Given the description of an element on the screen output the (x, y) to click on. 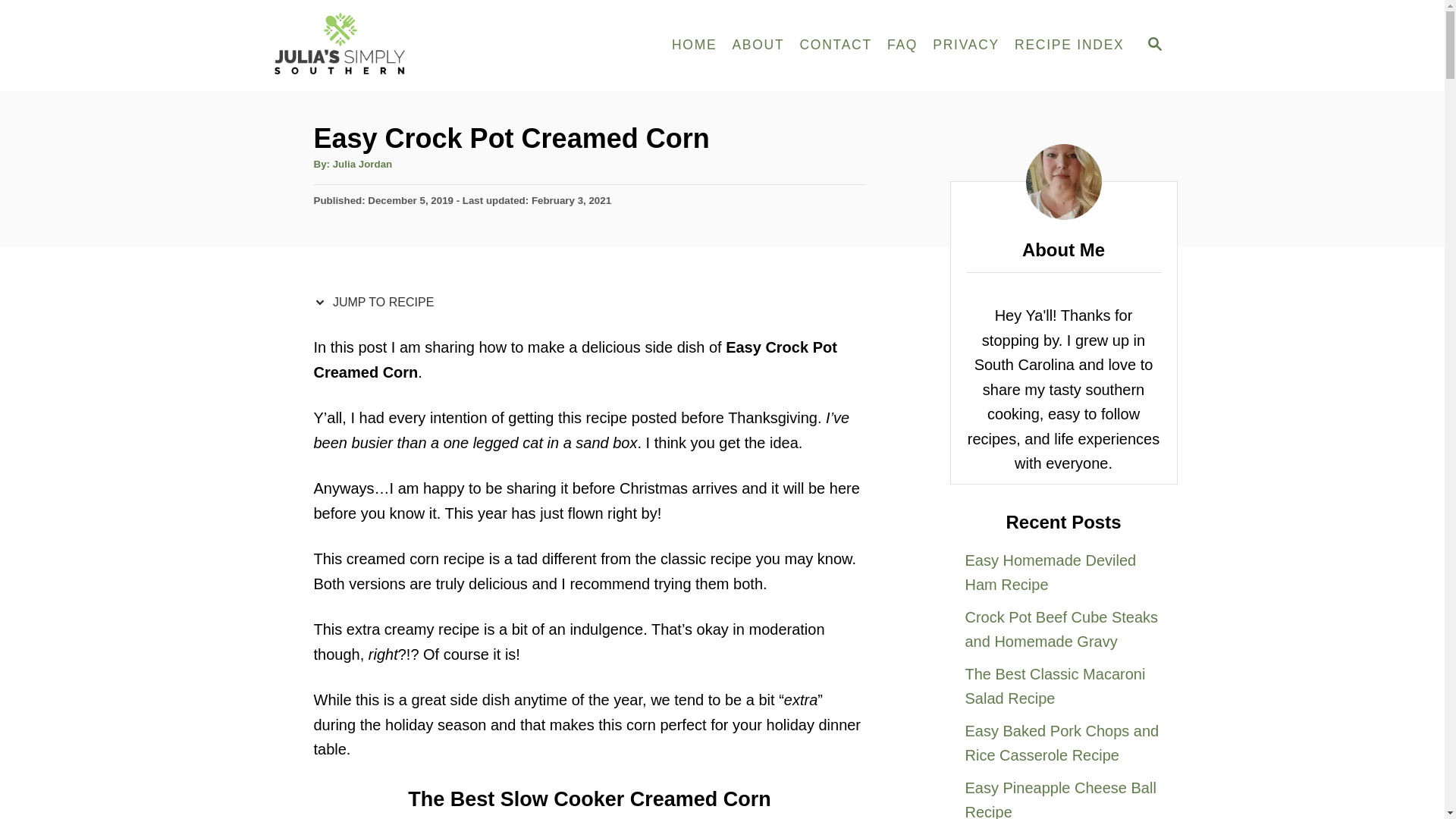
ABOUT (757, 45)
PRIVACY (965, 45)
CONTACT (835, 45)
SEARCH (1153, 45)
JUMP TO RECIPE (378, 302)
FAQ (901, 45)
Julias Simply Southern (403, 45)
HOME (694, 45)
RECIPE INDEX (1069, 45)
Julia Jordan (363, 163)
